Given the description of an element on the screen output the (x, y) to click on. 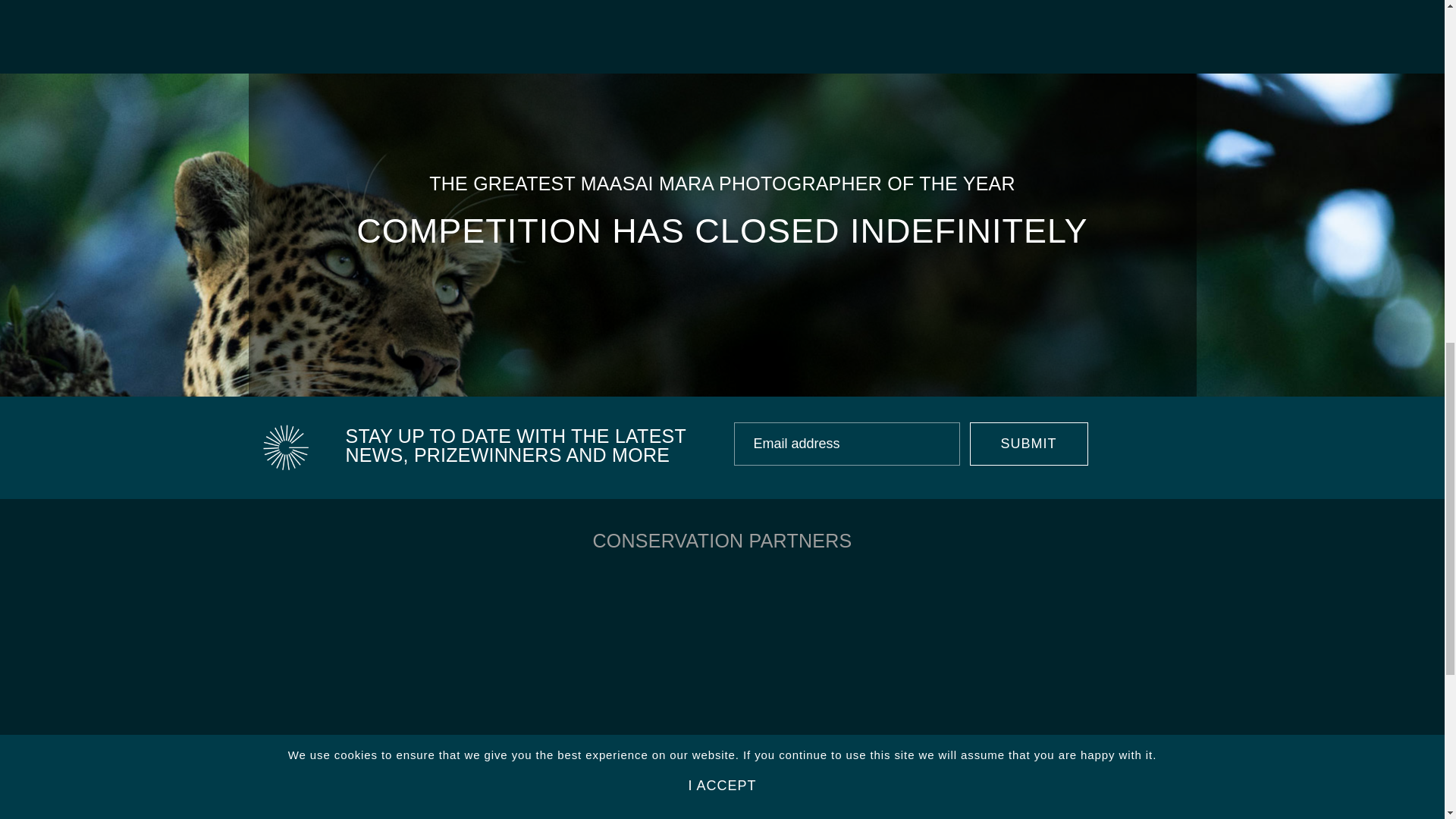
SUBMIT (1028, 444)
tgmm-favicon-white (284, 447)
